Given the description of an element on the screen output the (x, y) to click on. 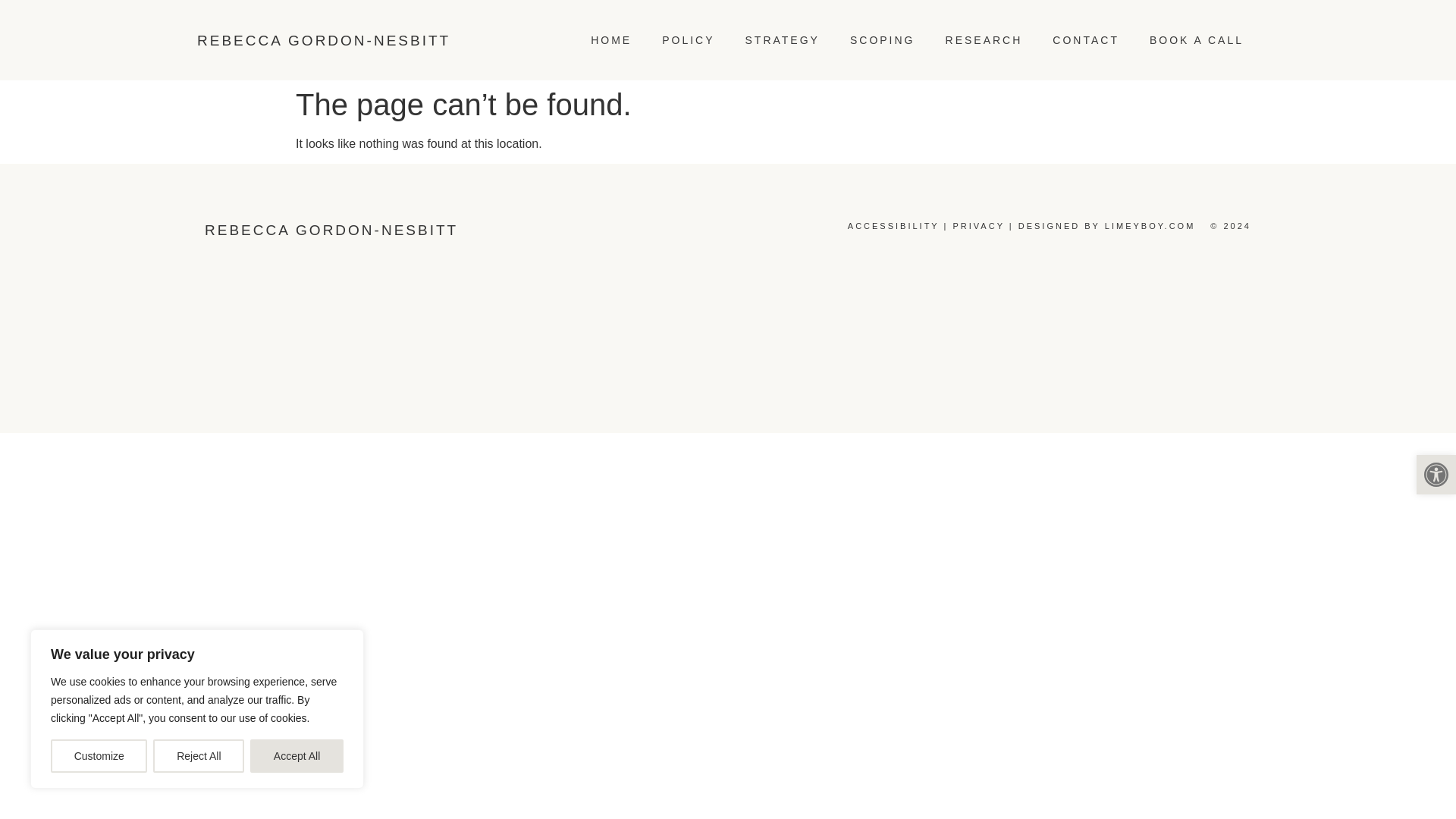
STRATEGY (782, 40)
RESEARCH (984, 40)
POLICY (687, 40)
CONTACT (1085, 40)
HOME (610, 40)
BOOK A CALL (1196, 40)
SCOPING (882, 40)
REBECCA GORDON-NESBITT (322, 39)
